Given the description of an element on the screen output the (x, y) to click on. 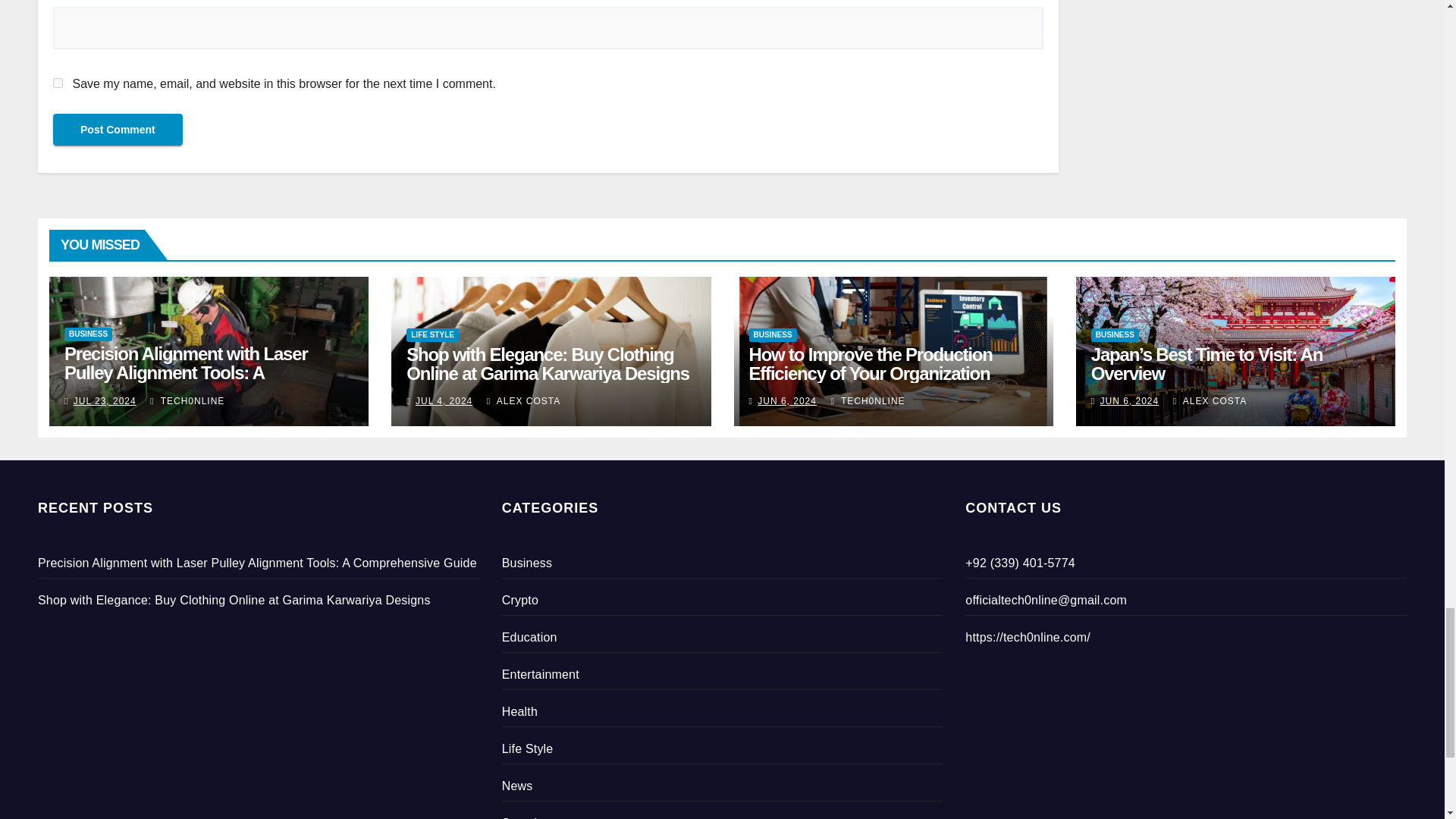
Post Comment (117, 129)
yes (57, 82)
